Given the description of an element on the screen output the (x, y) to click on. 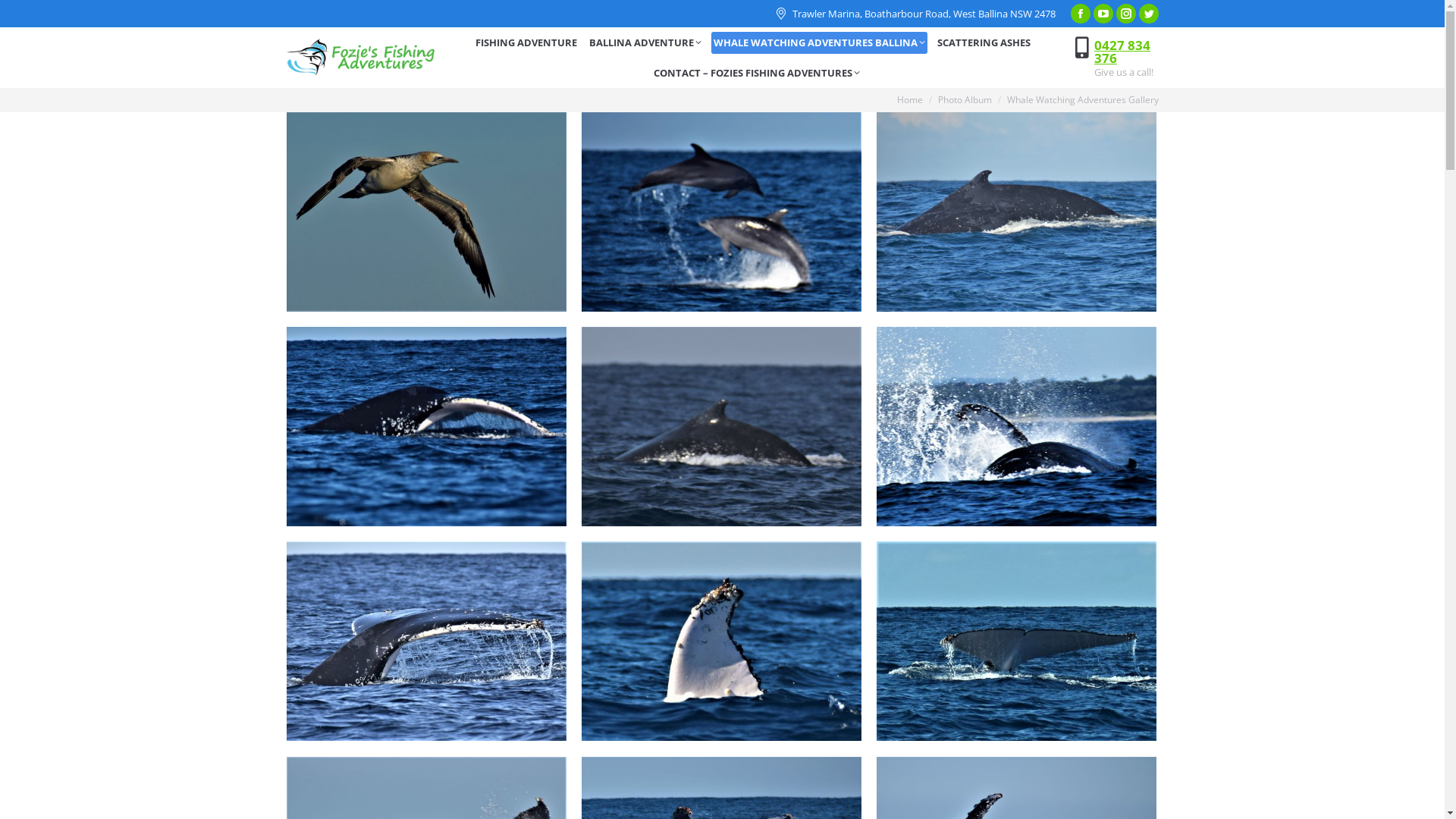
0427 834 376 Element type: text (1122, 51)
WHALE WATCHING ADVENTURES BALLINA Element type: text (819, 42)
SCATTERING ASHES Element type: text (983, 42)
FISHING ADVENTURE Element type: text (526, 42)
Home Element type: text (909, 99)
BALLINA ADVENTURE Element type: text (644, 42)
Instagram page opens in new window Element type: text (1125, 13)
YouTube page opens in new window Element type: text (1103, 13)
Photo Album Element type: text (964, 99)
Twitter page opens in new window Element type: text (1148, 13)
Facebook page opens in new window Element type: text (1080, 13)
